Given the description of an element on the screen output the (x, y) to click on. 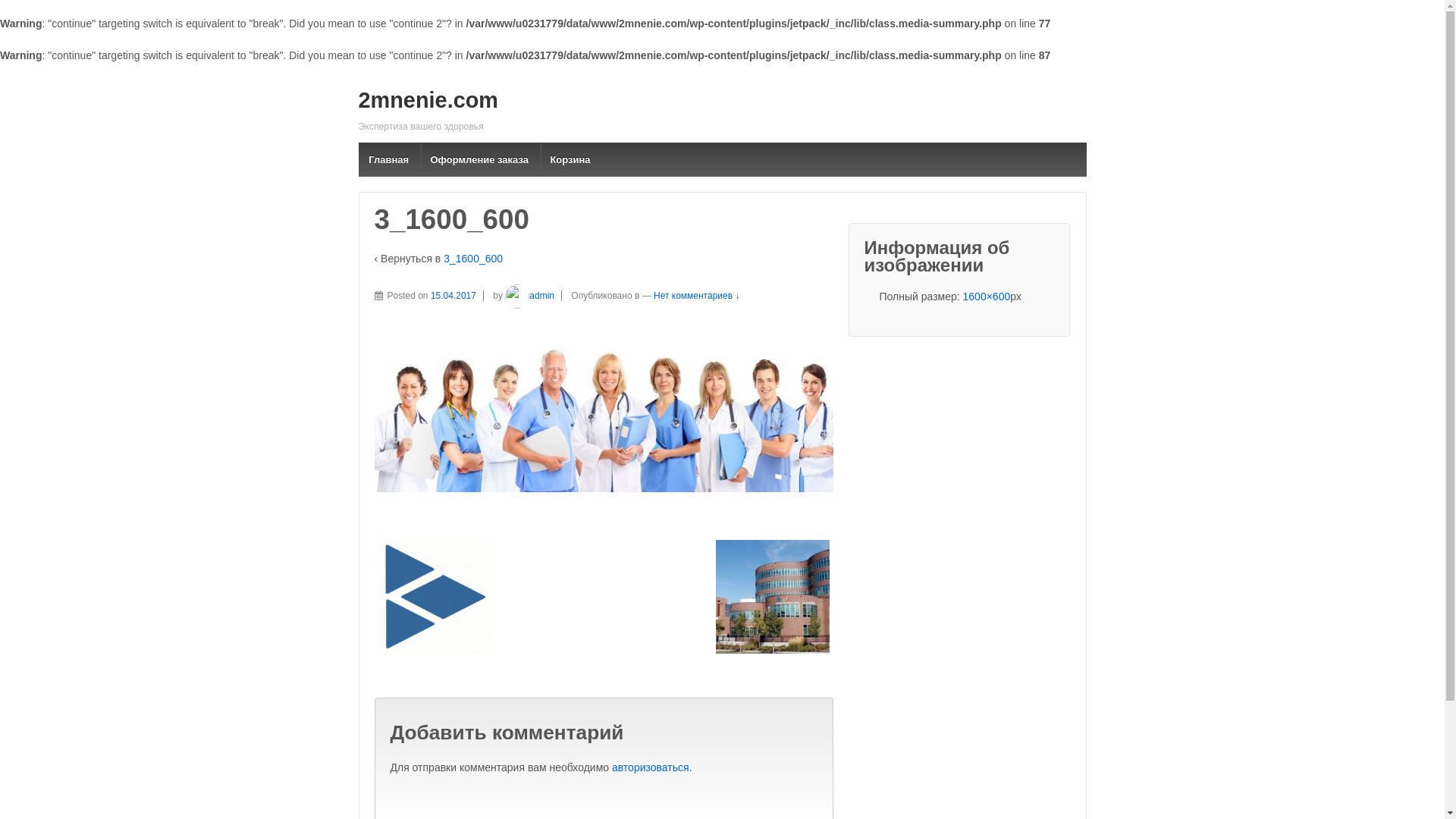
15.04.2017 Element type: text (456, 295)
3_1600_600 Element type: text (472, 258)
2mnenie.com Element type: text (427, 99)
admin Element type: text (529, 295)
